Given the description of an element on the screen output the (x, y) to click on. 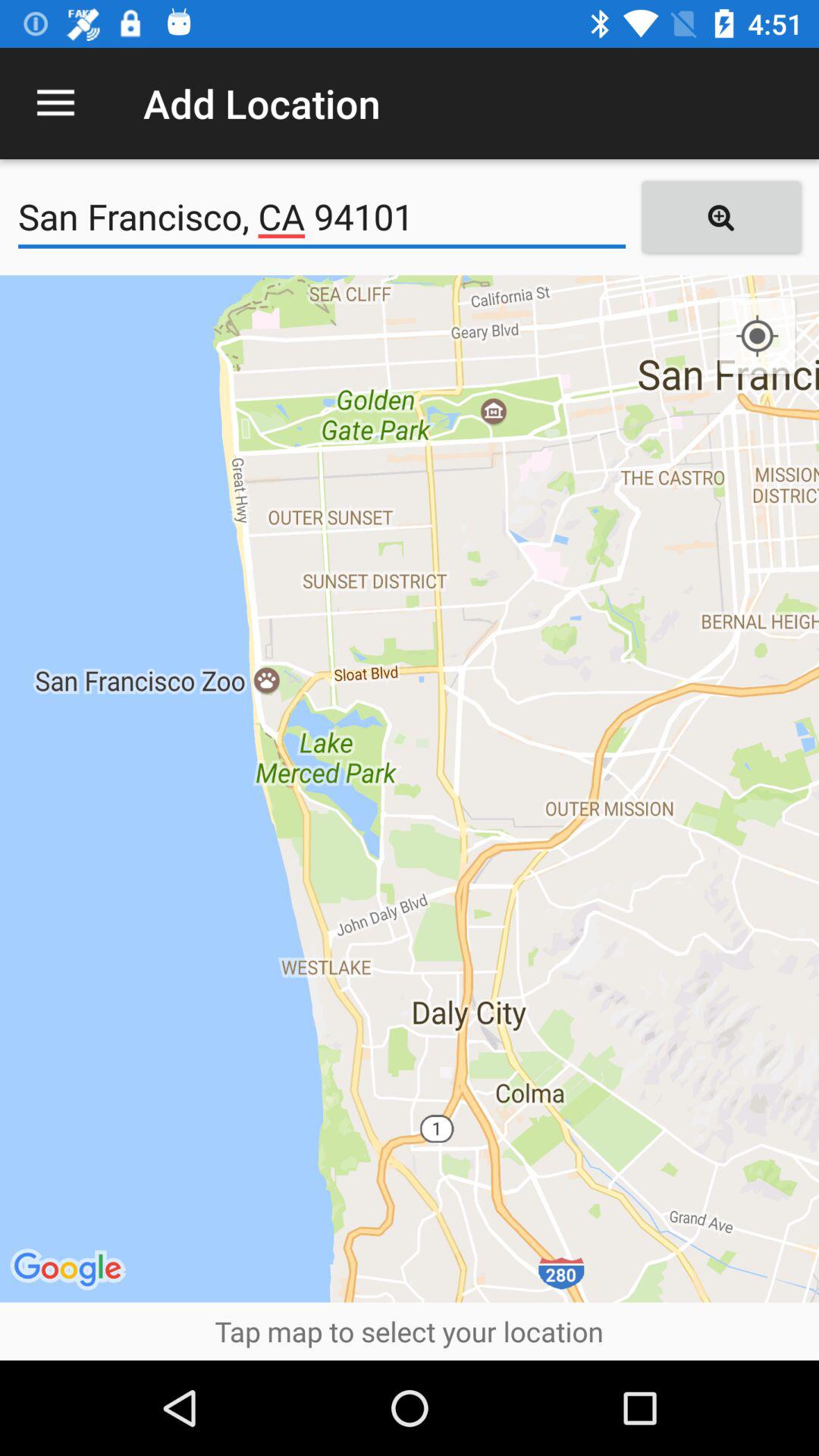
press the icon at the top (321, 217)
